Given the description of an element on the screen output the (x, y) to click on. 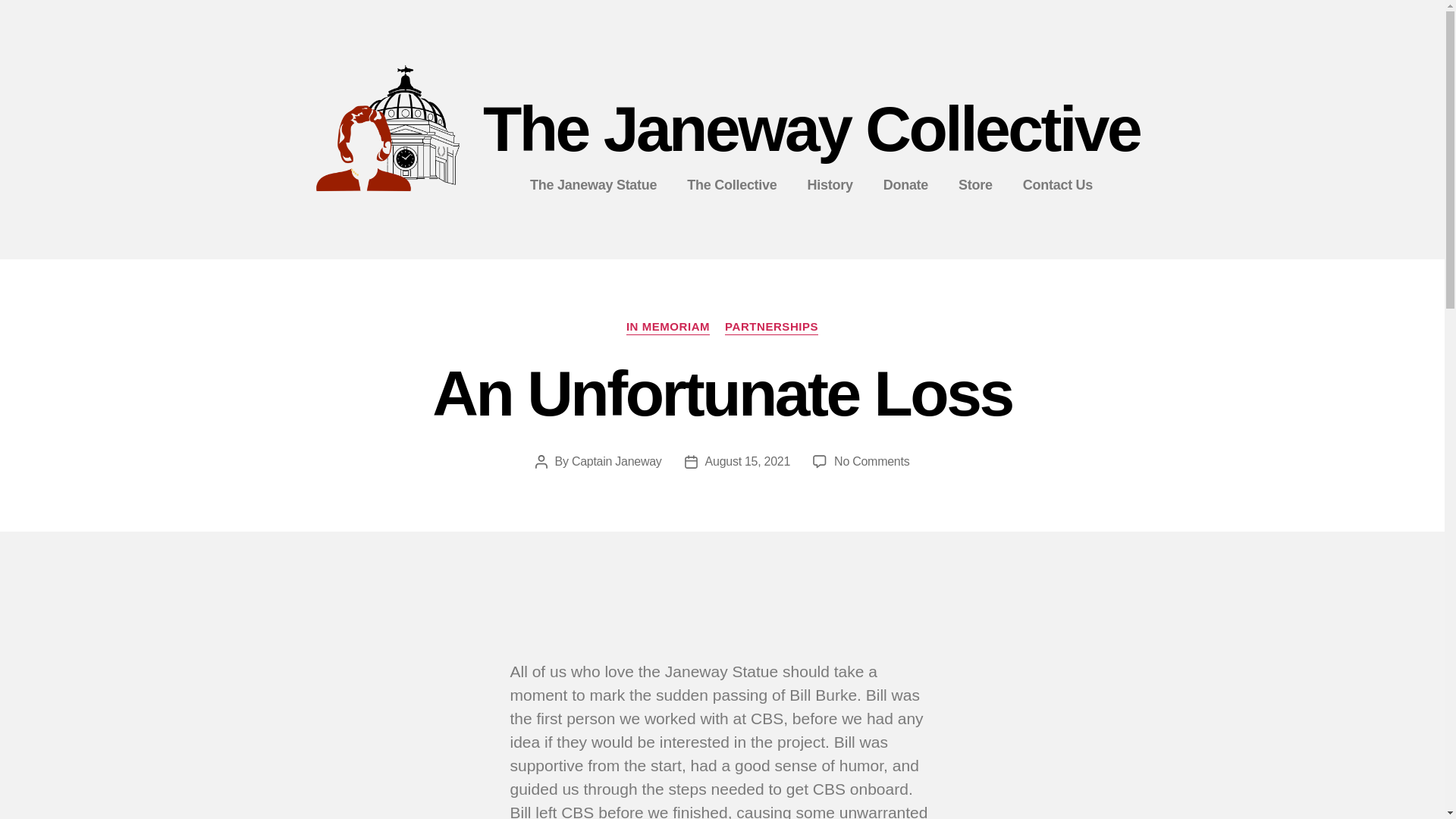
Captain Janeway (617, 461)
No Comments (871, 461)
Store (975, 184)
PARTNERSHIPS (771, 327)
The Janeway Statue (593, 184)
Donate (905, 184)
Contact Us (1057, 184)
History (829, 184)
August 15, 2021 (747, 461)
IN MEMORIAM (668, 327)
